Given the description of an element on the screen output the (x, y) to click on. 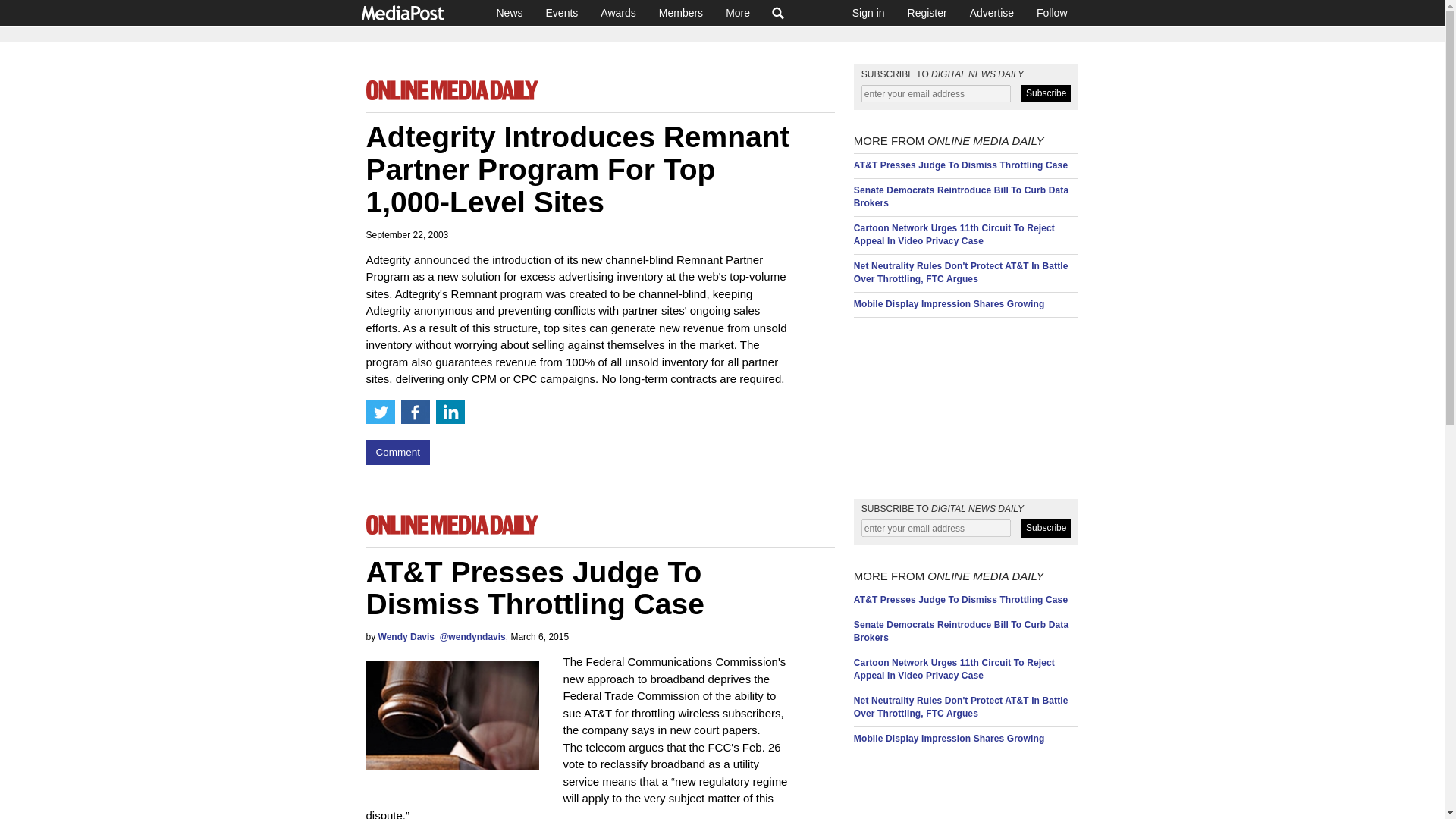
News (509, 12)
Share on LinkedIn (449, 411)
Share on Twitter (379, 411)
Subscribe (1046, 528)
Share on Facebook (414, 411)
Subscribe (1046, 93)
